Given the description of an element on the screen output the (x, y) to click on. 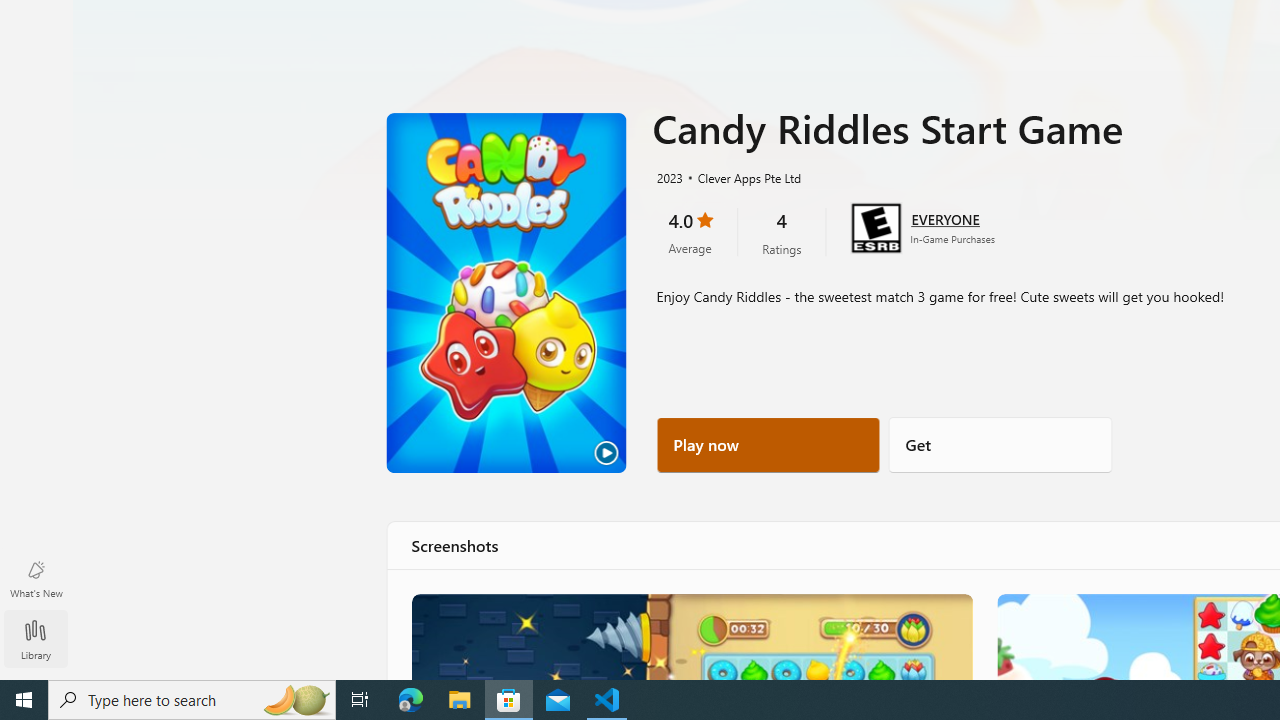
What's New (35, 578)
Library (35, 631)
